Given the description of an element on the screen output the (x, y) to click on. 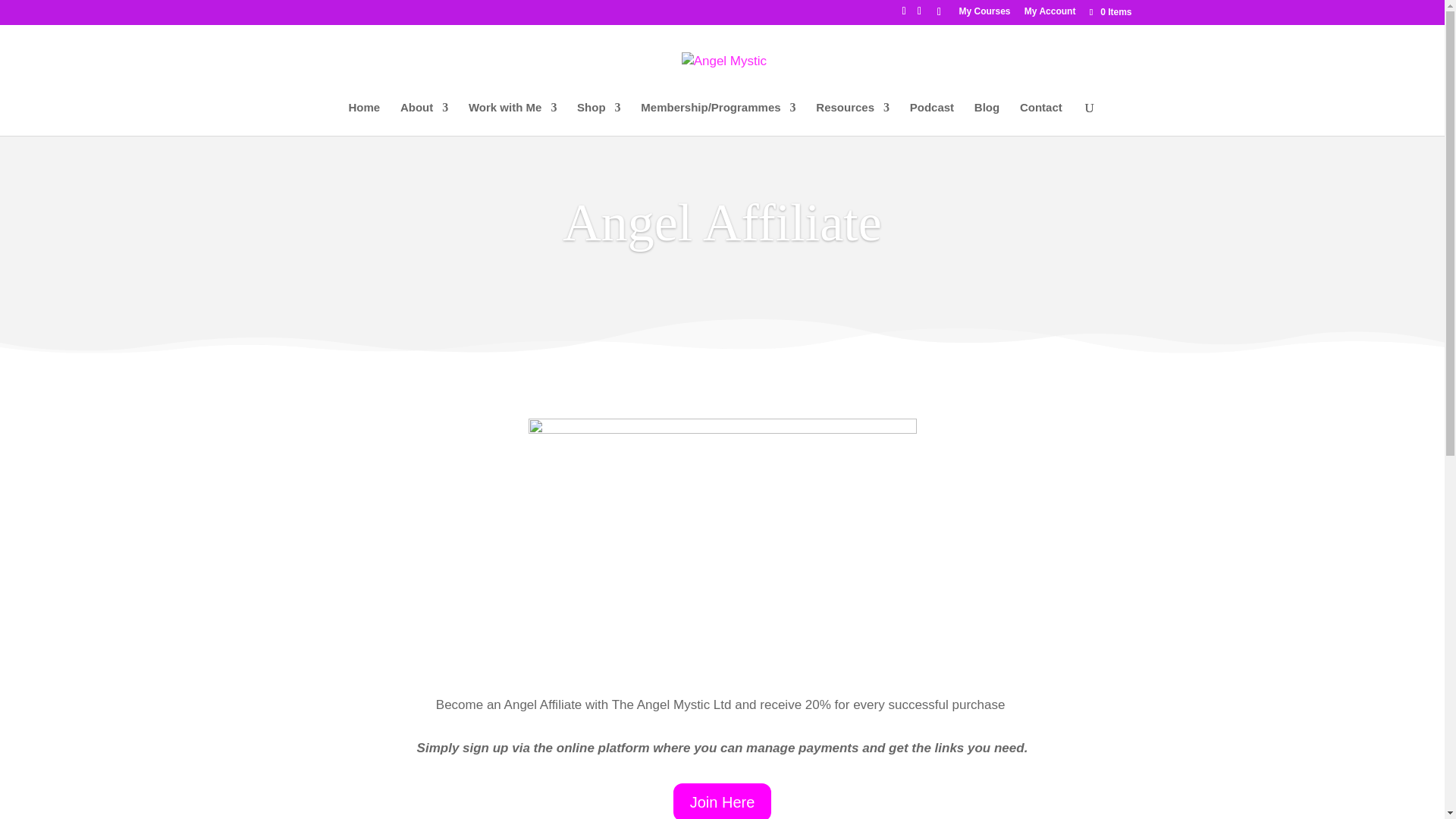
0 Items (1108, 11)
angel affiliate amanda (721, 544)
Podcast (931, 118)
Angel Affiliate (722, 222)
Join Here (721, 800)
Work with Me (512, 118)
About (424, 118)
Contact (1041, 118)
Shop (598, 118)
My Courses (984, 14)
